Given the description of an element on the screen output the (x, y) to click on. 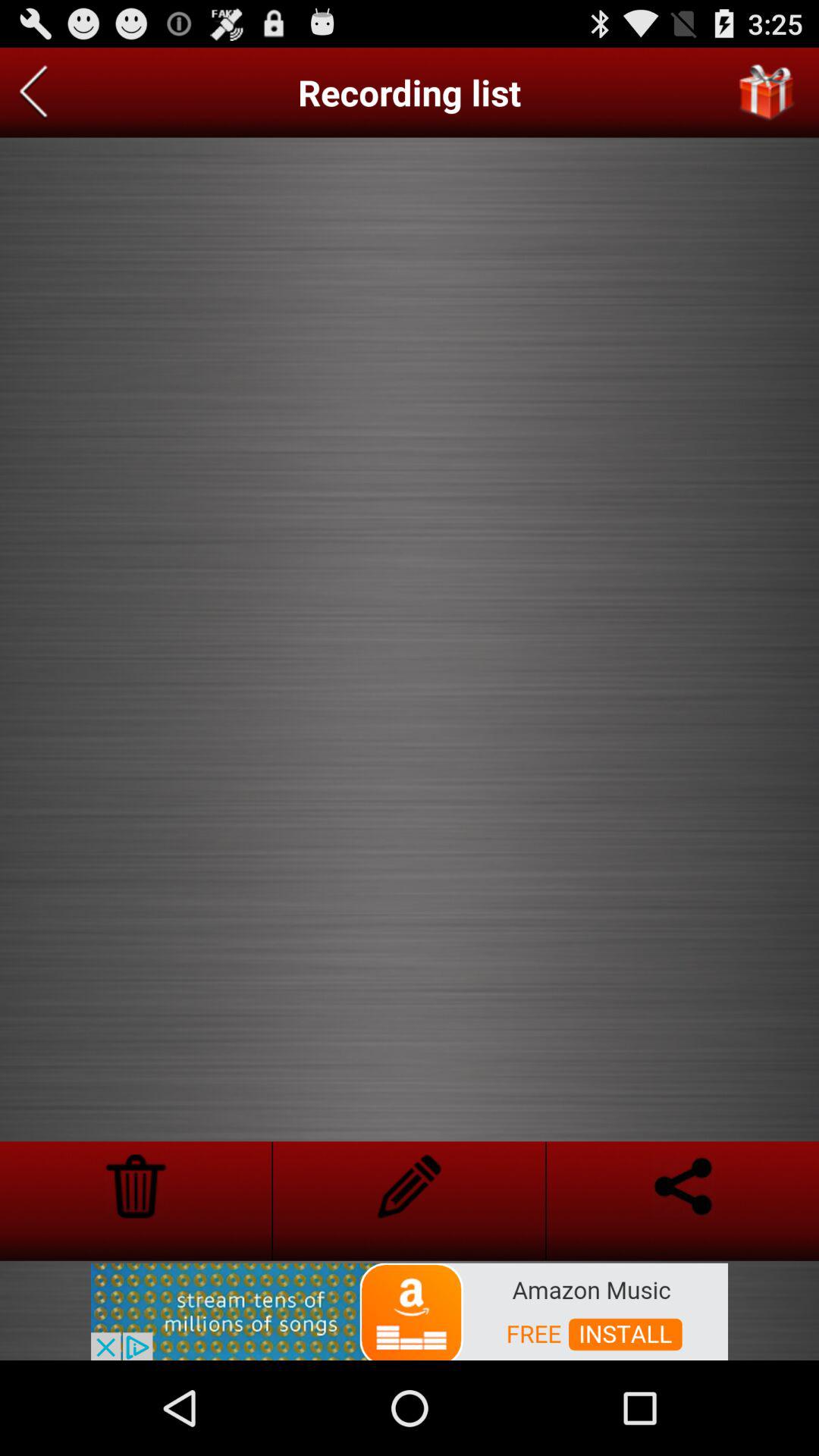
back button (33, 92)
